Given the description of an element on the screen output the (x, y) to click on. 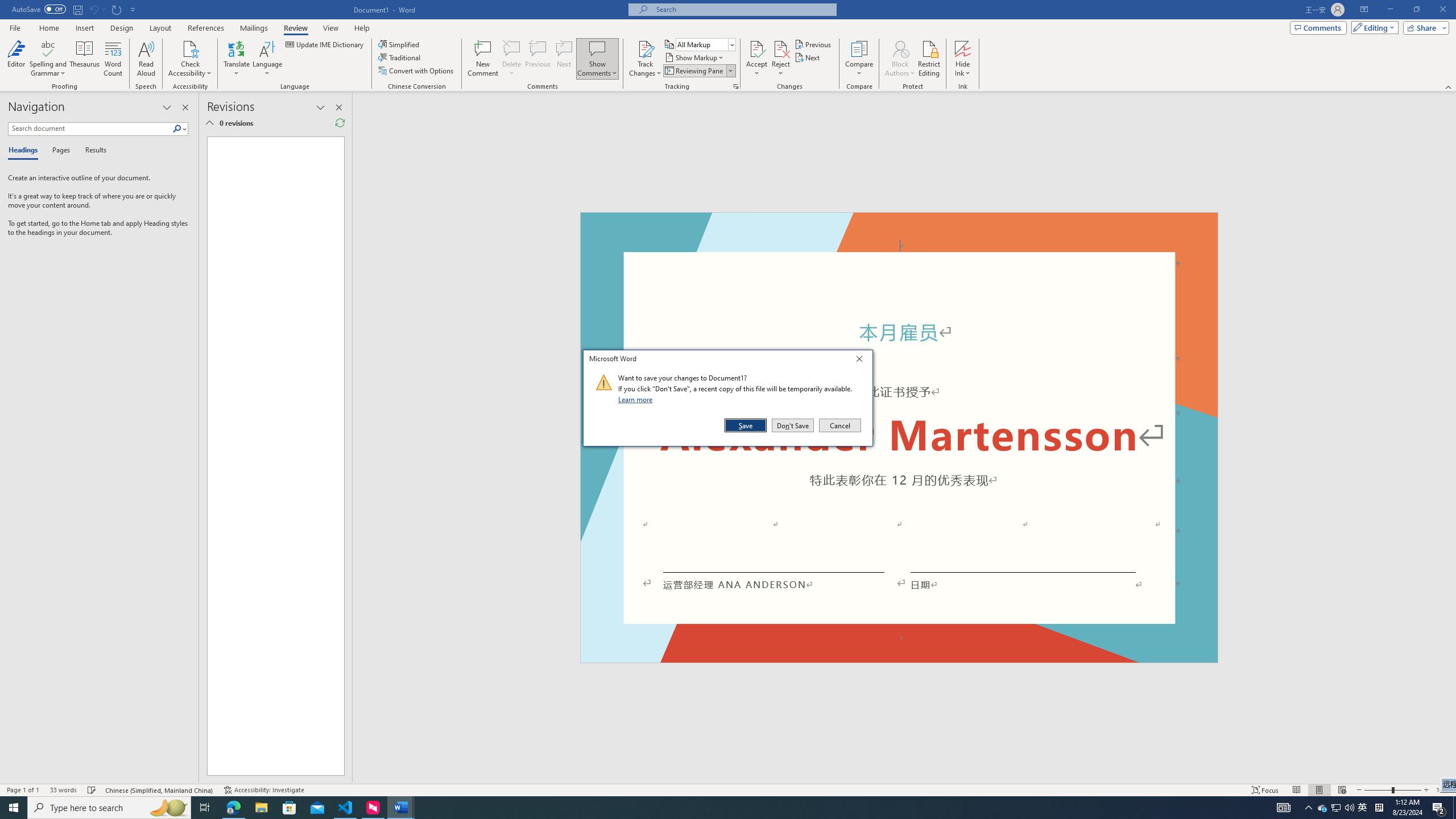
Traditional (400, 56)
Hide Ink (962, 48)
Track Changes (644, 48)
Show desktop (1454, 807)
Language Chinese (Simplified, Mainland China) (159, 790)
Search document (89, 128)
Editor (16, 58)
Page Number Page 1 of 1 (22, 790)
Refresh Reviewing Pane (339, 122)
Accept (756, 58)
